Given the description of an element on the screen output the (x, y) to click on. 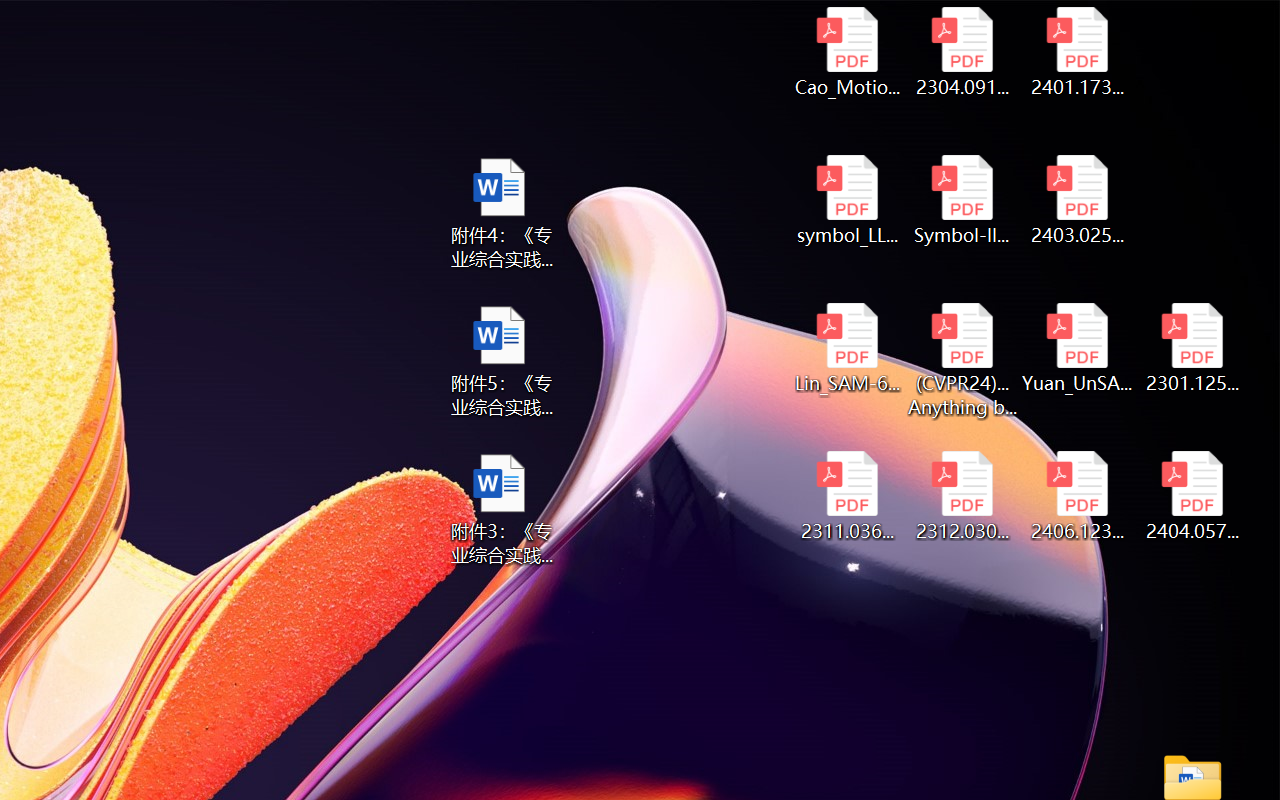
2301.12597v3.pdf (1192, 348)
2304.09121v3.pdf (962, 52)
symbol_LLM.pdf (846, 200)
2403.02502v1.pdf (1077, 200)
(CVPR24)Matching Anything by Segmenting Anything.pdf (962, 360)
2401.17399v1.pdf (1077, 52)
Symbol-llm-v2.pdf (962, 200)
2404.05719v1.pdf (1192, 496)
2406.12373v2.pdf (1077, 496)
2312.03032v2.pdf (962, 496)
